Given the description of an element on the screen output the (x, y) to click on. 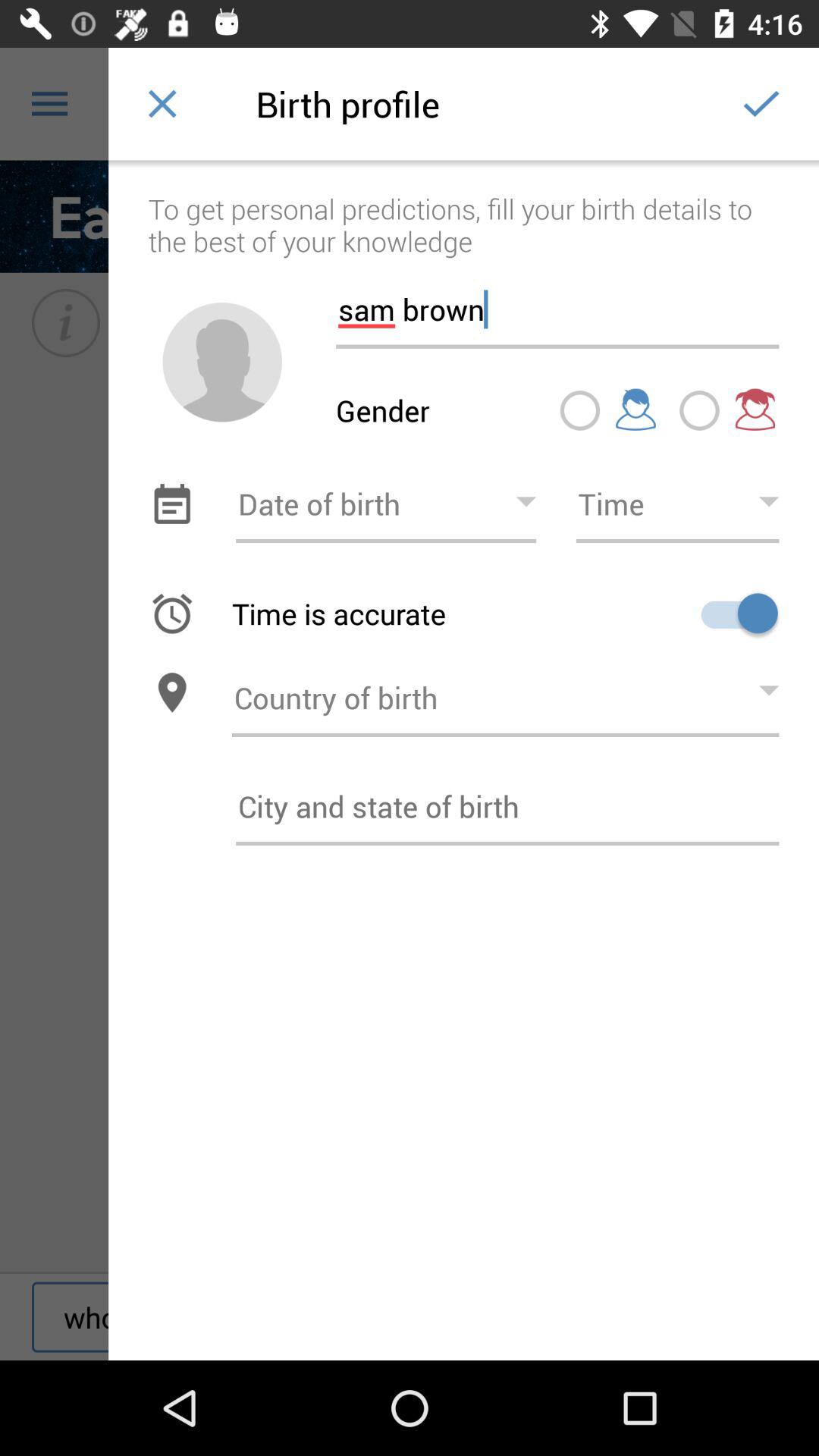
display calendar (172, 503)
